Given the description of an element on the screen output the (x, y) to click on. 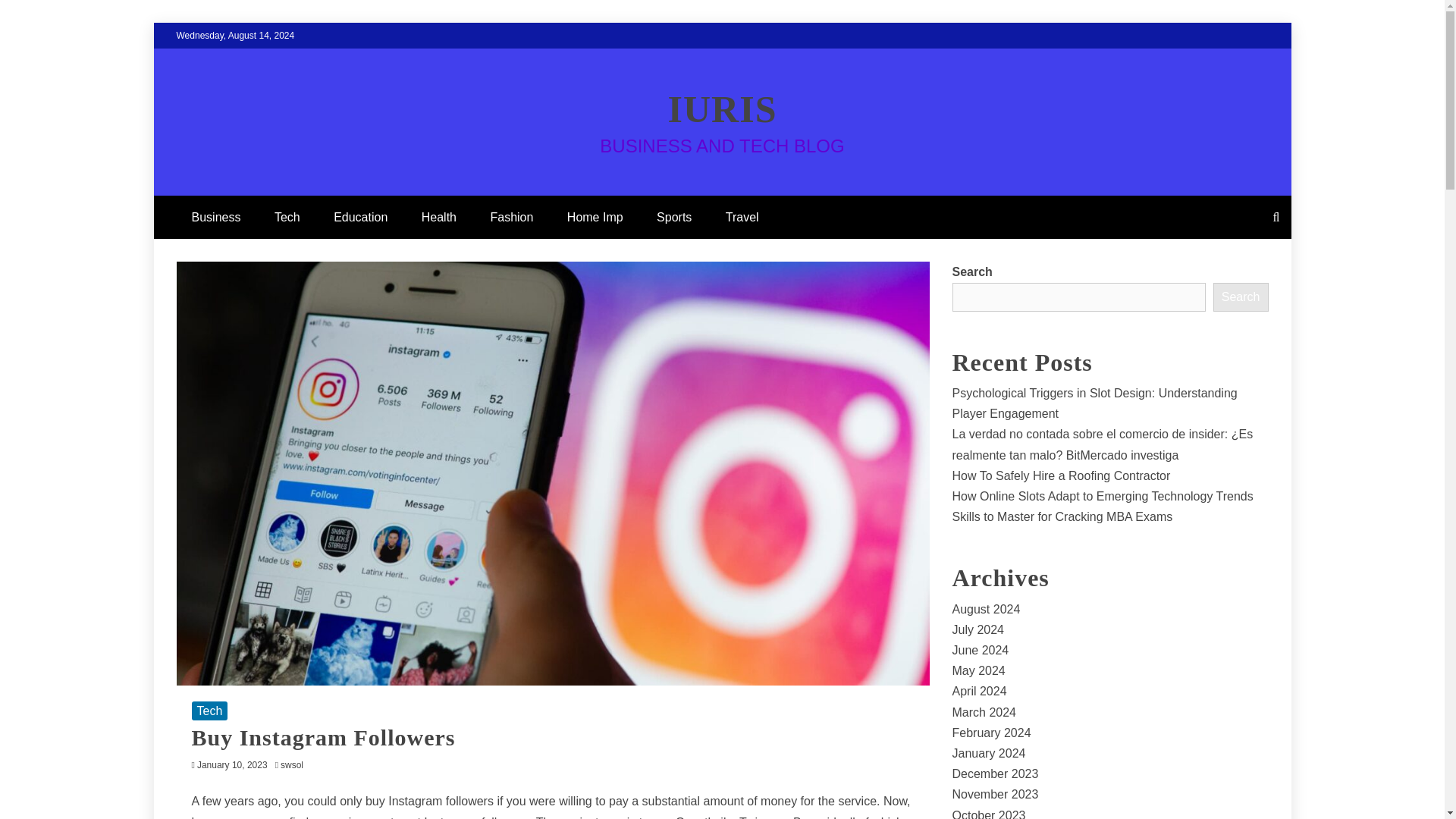
Home Imp (595, 217)
Education (360, 217)
Health (438, 217)
Sports (674, 217)
Business (216, 217)
Tech (287, 217)
How To Safely Hire a Roofing Contractor (1061, 475)
IURIS (722, 108)
Fashion (511, 217)
